Given the description of an element on the screen output the (x, y) to click on. 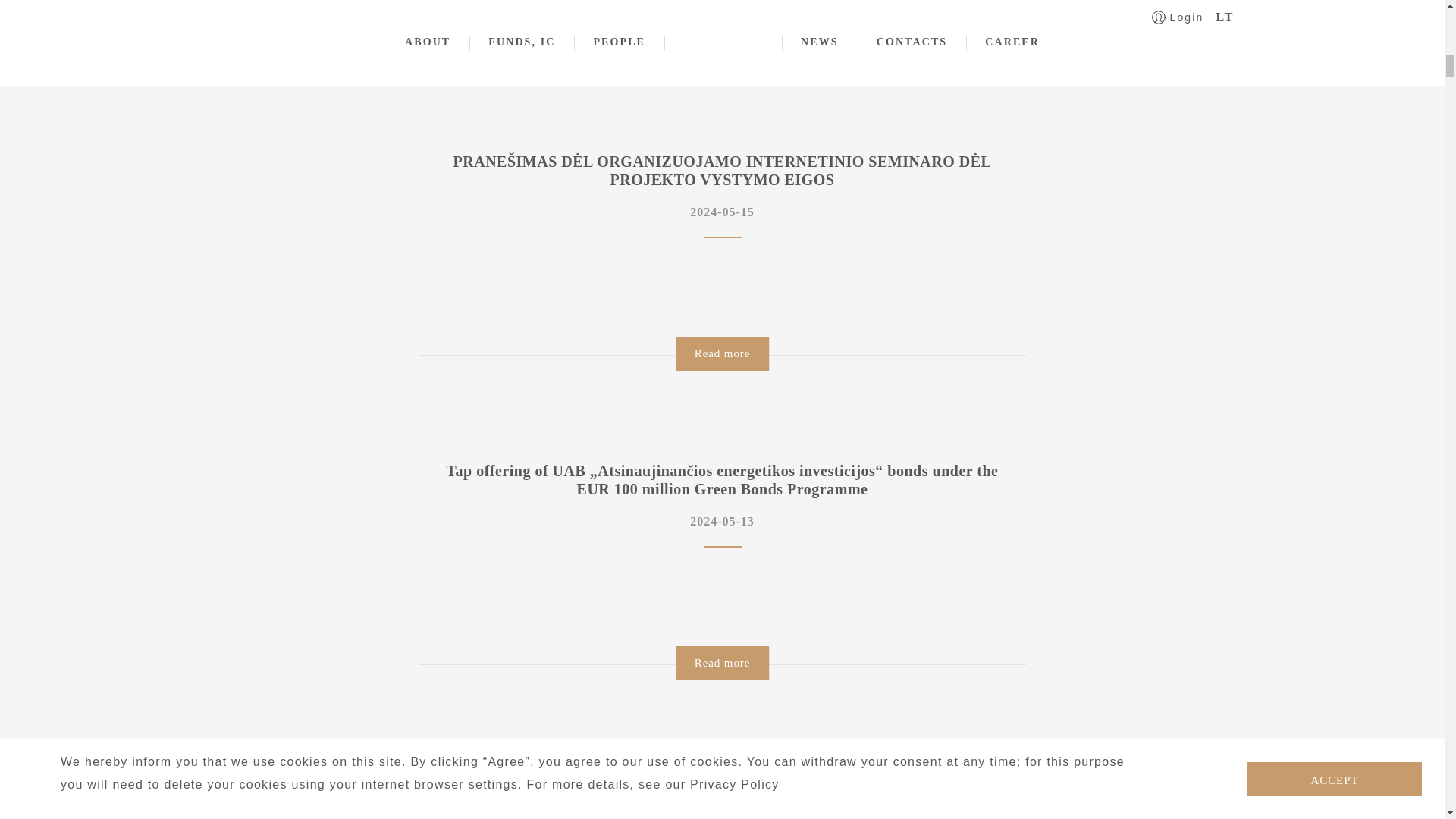
Read more (722, 44)
Read more (722, 353)
